Given the description of an element on the screen output the (x, y) to click on. 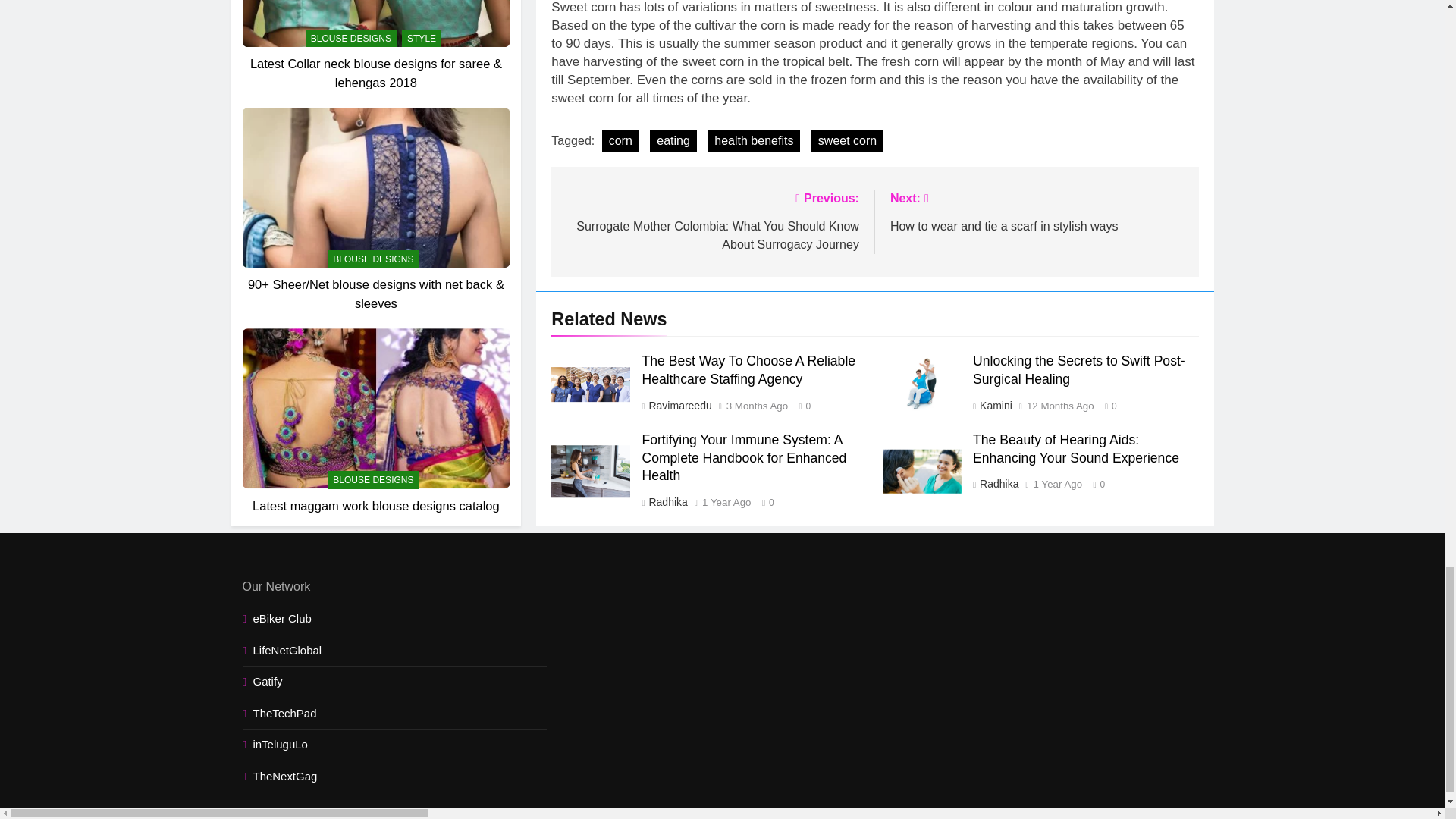
sweet corn (846, 140)
eating (673, 140)
health benefits (753, 140)
corn (620, 140)
